Given the description of an element on the screen output the (x, y) to click on. 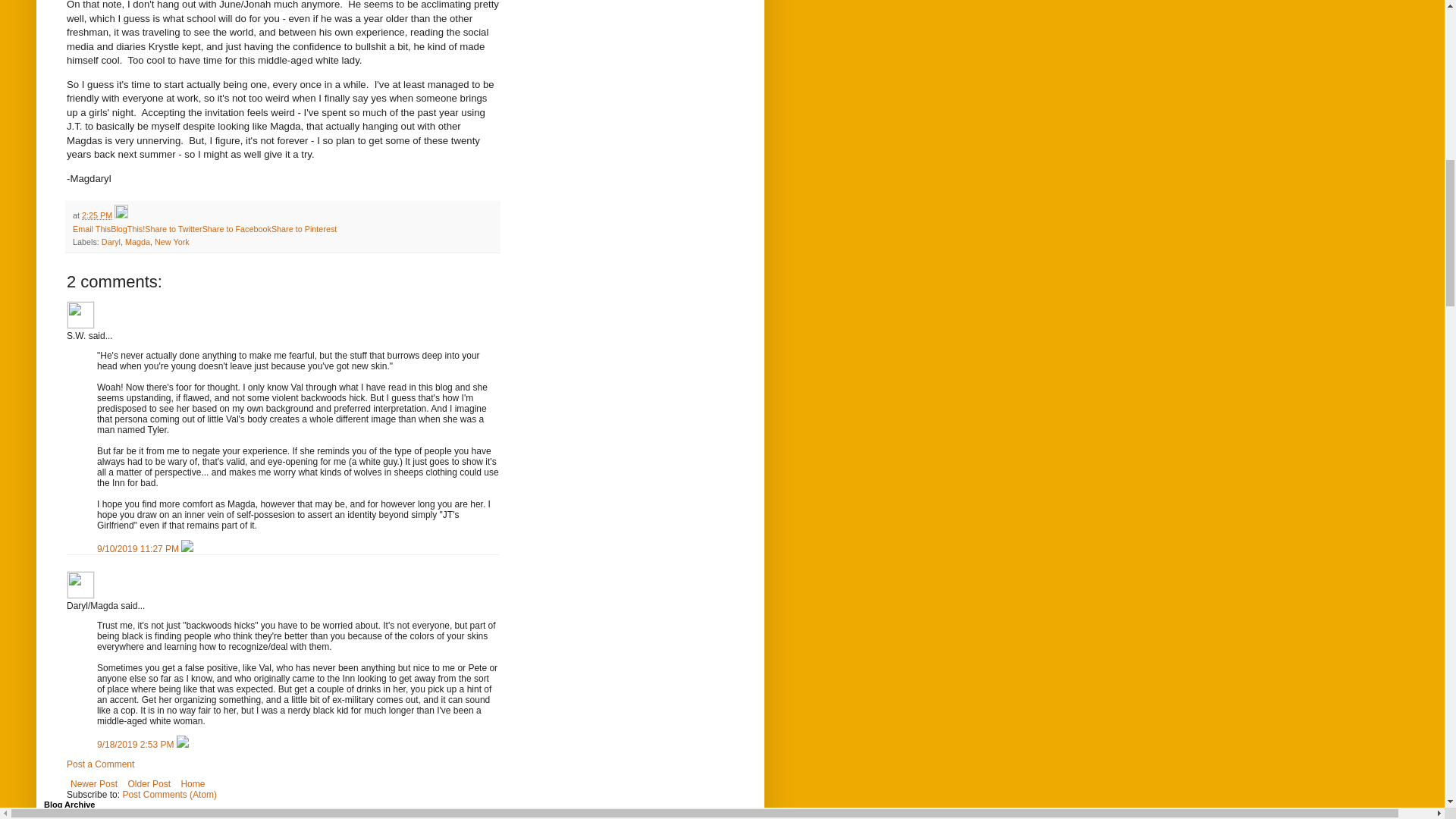
Edit Post (121, 215)
New York (171, 241)
Share to Facebook (236, 228)
Share to Twitter (173, 228)
Email This (91, 228)
Share to Facebook (236, 228)
permanent link (96, 215)
Newer Post (93, 783)
Older Post (148, 783)
Post a Comment (99, 764)
comment permalink (138, 548)
Share to Twitter (173, 228)
2:25 PM (96, 215)
Daryl (110, 241)
